Given the description of an element on the screen output the (x, y) to click on. 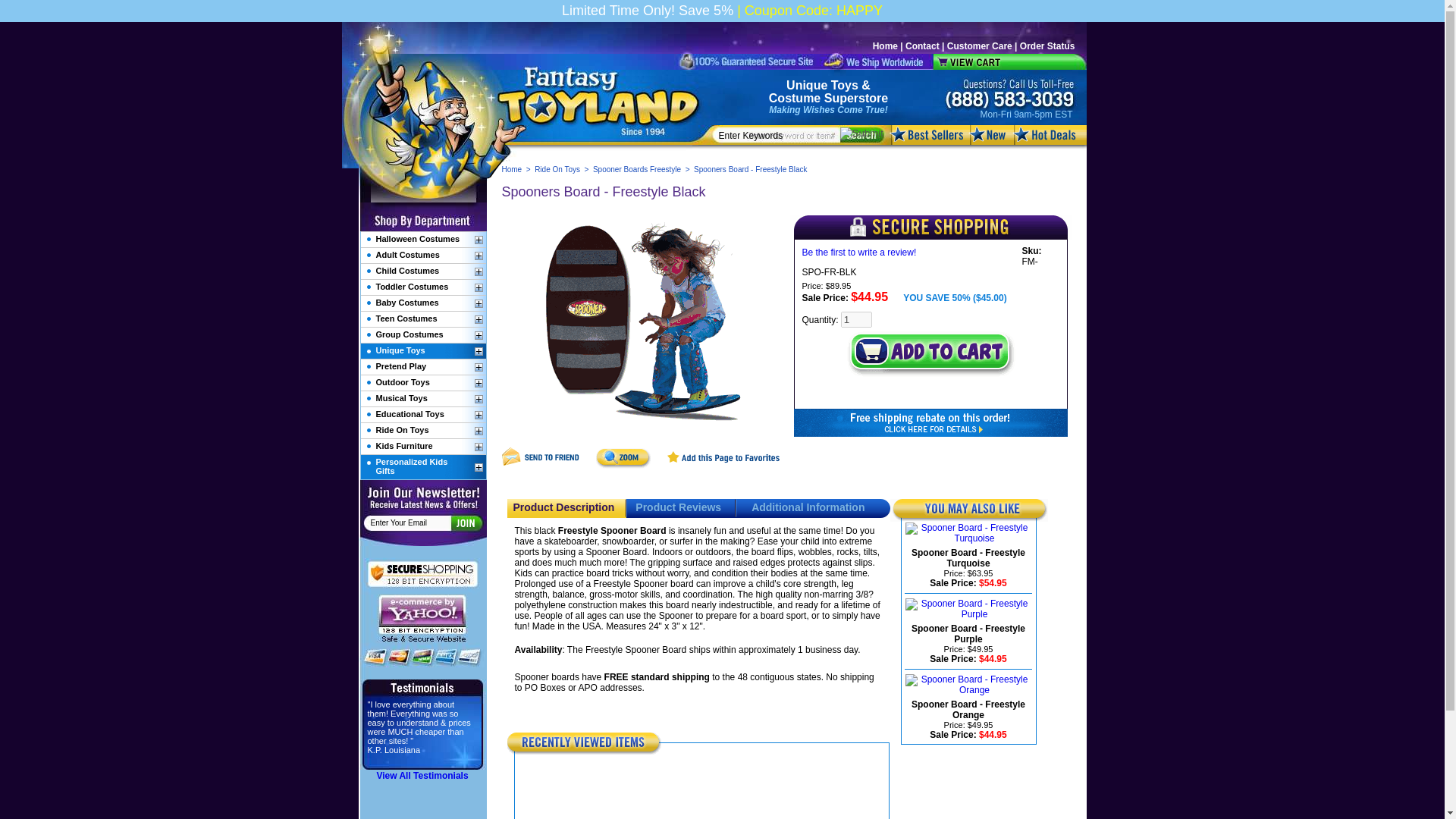
Spooner Boards Freestyle (636, 169)
Customer Care (979, 45)
Halloween Costumes (417, 238)
Submit (465, 522)
Spooner Board - Freestyle Turquoise (968, 557)
Ride On Toys (556, 169)
Be the first to write a review! (859, 252)
Search (861, 133)
Search (861, 133)
1 (856, 319)
